Given the description of an element on the screen output the (x, y) to click on. 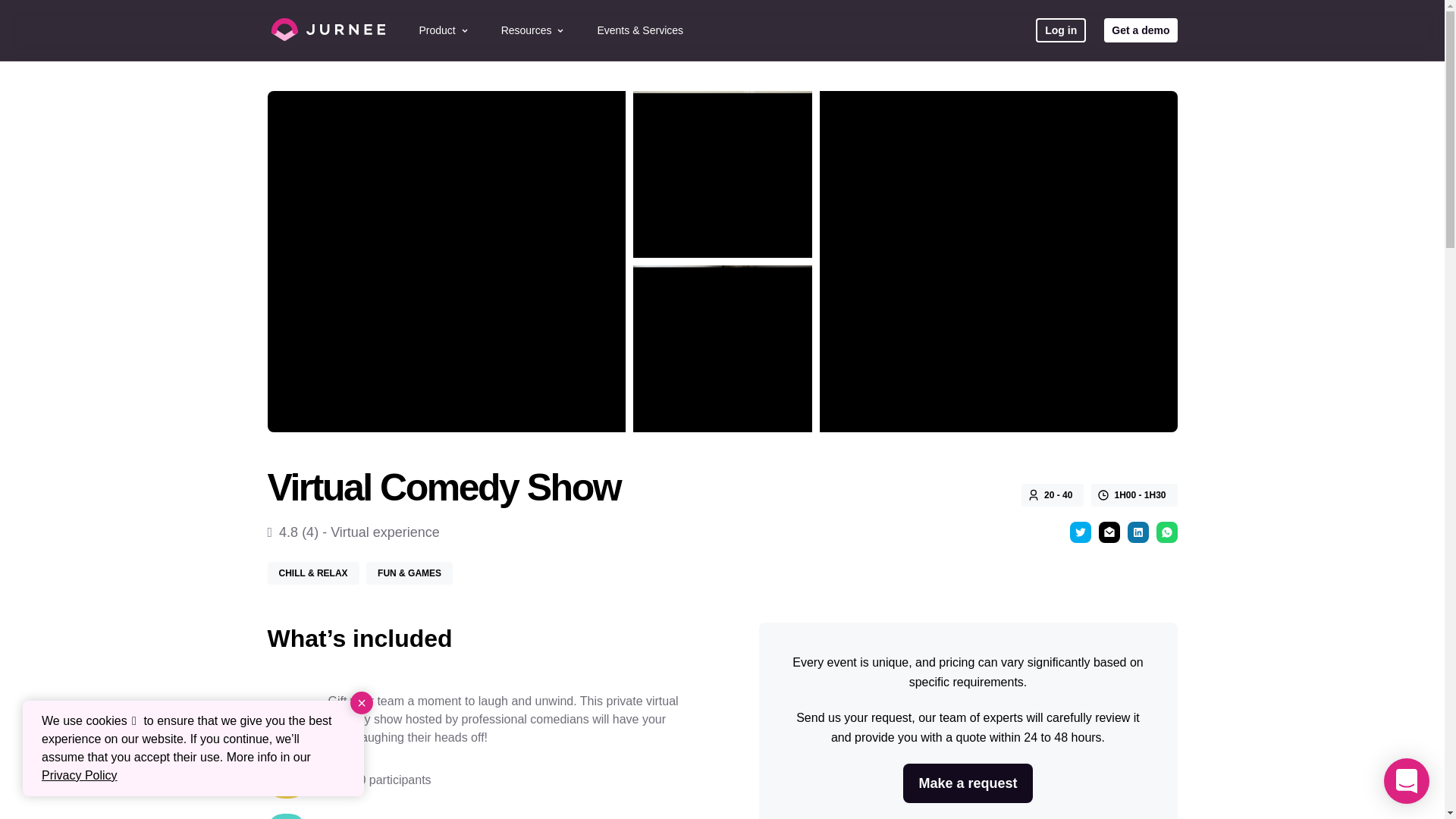
Get a demo (1139, 30)
Log in (1060, 30)
Make a request (967, 783)
